Given the description of an element on the screen output the (x, y) to click on. 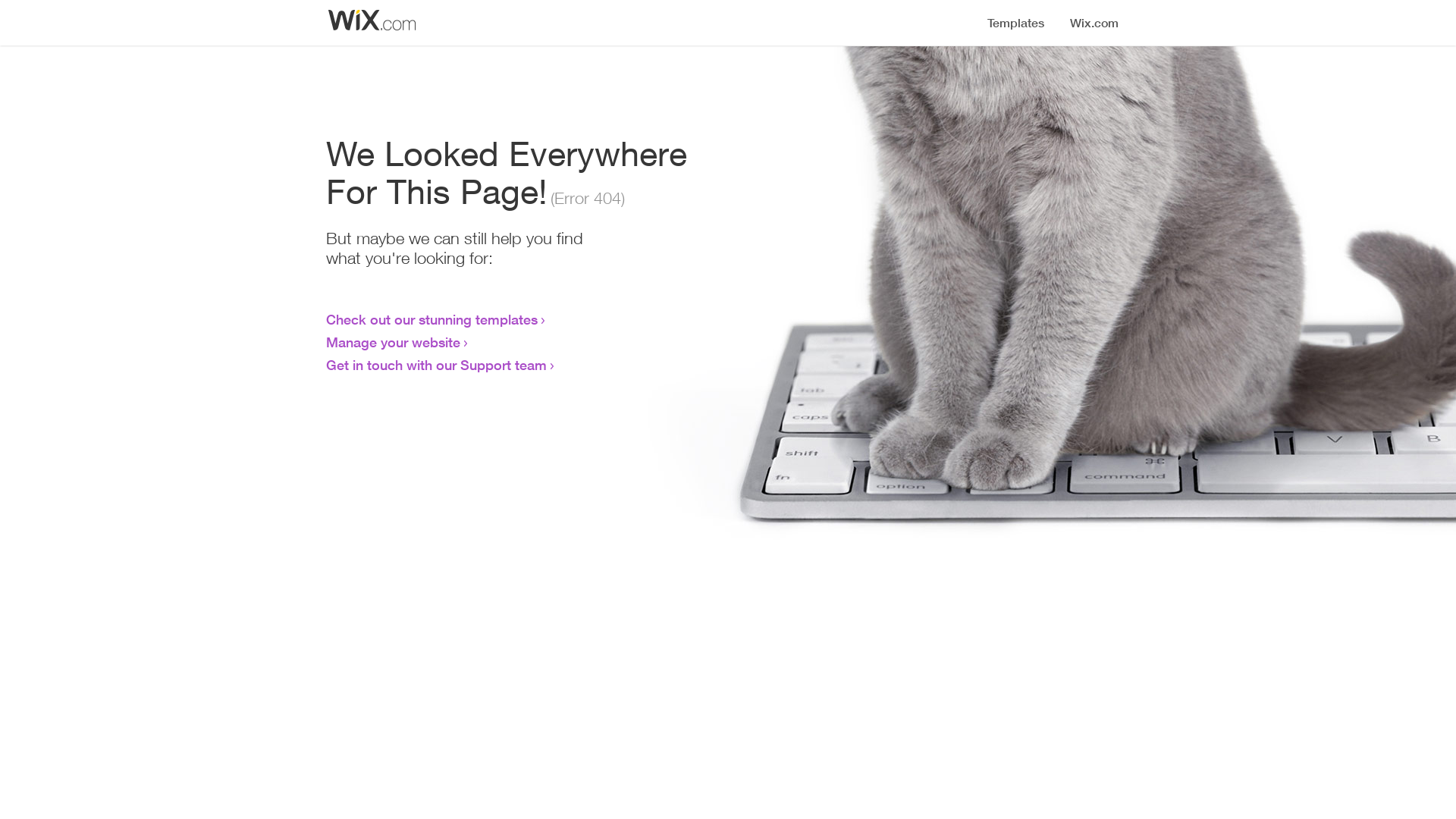
Manage your website Element type: text (393, 341)
Get in touch with our Support team Element type: text (436, 364)
Check out our stunning templates Element type: text (431, 318)
